Given the description of an element on the screen output the (x, y) to click on. 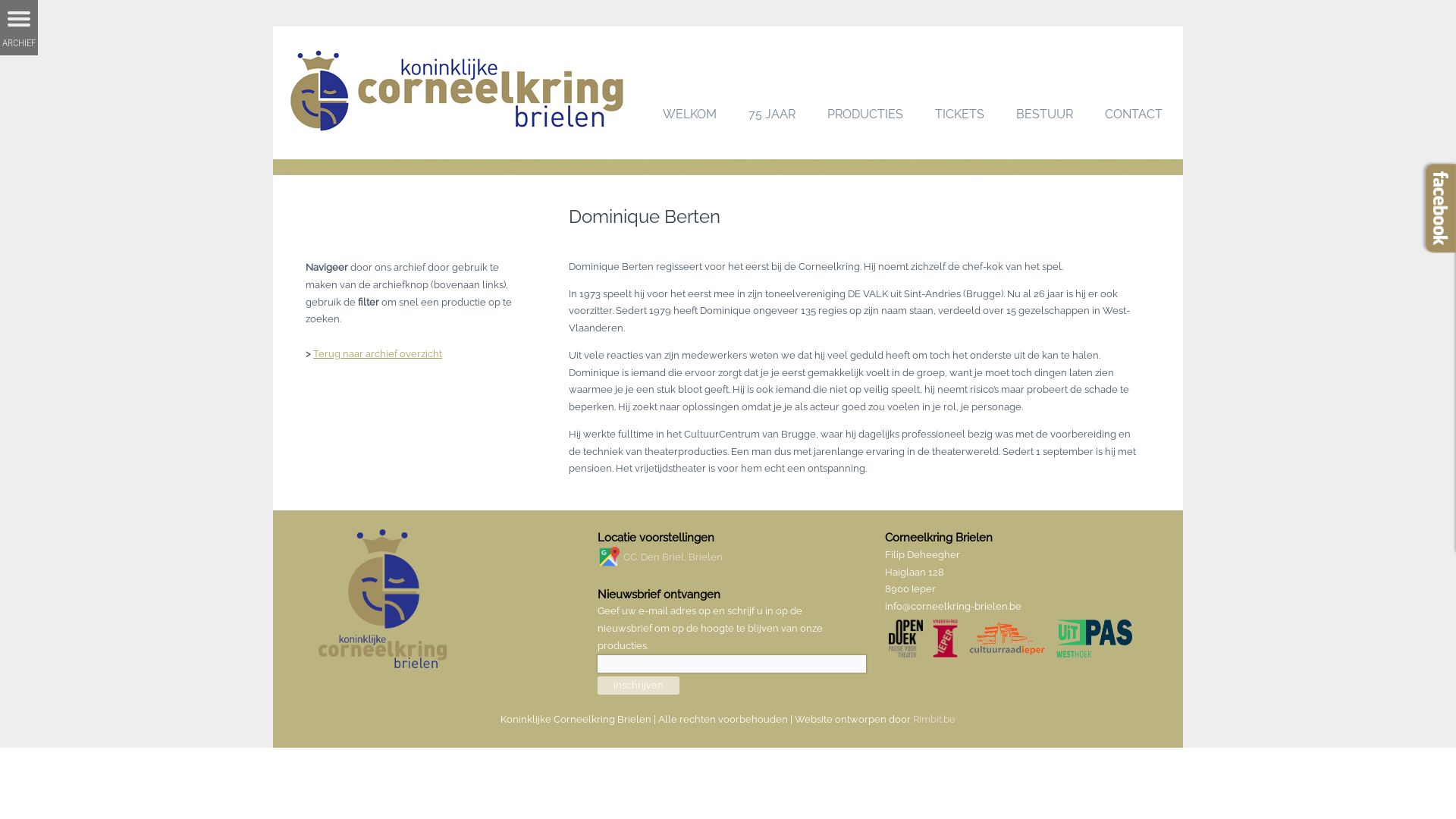
CONTACT Element type: text (1133, 114)
WELKOM Element type: text (689, 114)
Terug naar archief overzicht Element type: text (377, 353)
inschrijven Element type: text (638, 685)
BESTUUR Element type: text (1044, 114)
75 JAAR Element type: text (771, 114)
PRODUCTIES Element type: text (865, 114)
TICKETS Element type: text (959, 114)
WELKOM
75 JAAR
PRODUCTIES
TICKETS
BESTUUR
CONTACT Element type: text (728, 92)
Rimbit.be Element type: text (934, 718)
CC. Den Briel, Brielen Element type: text (672, 556)
